Given the description of an element on the screen output the (x, y) to click on. 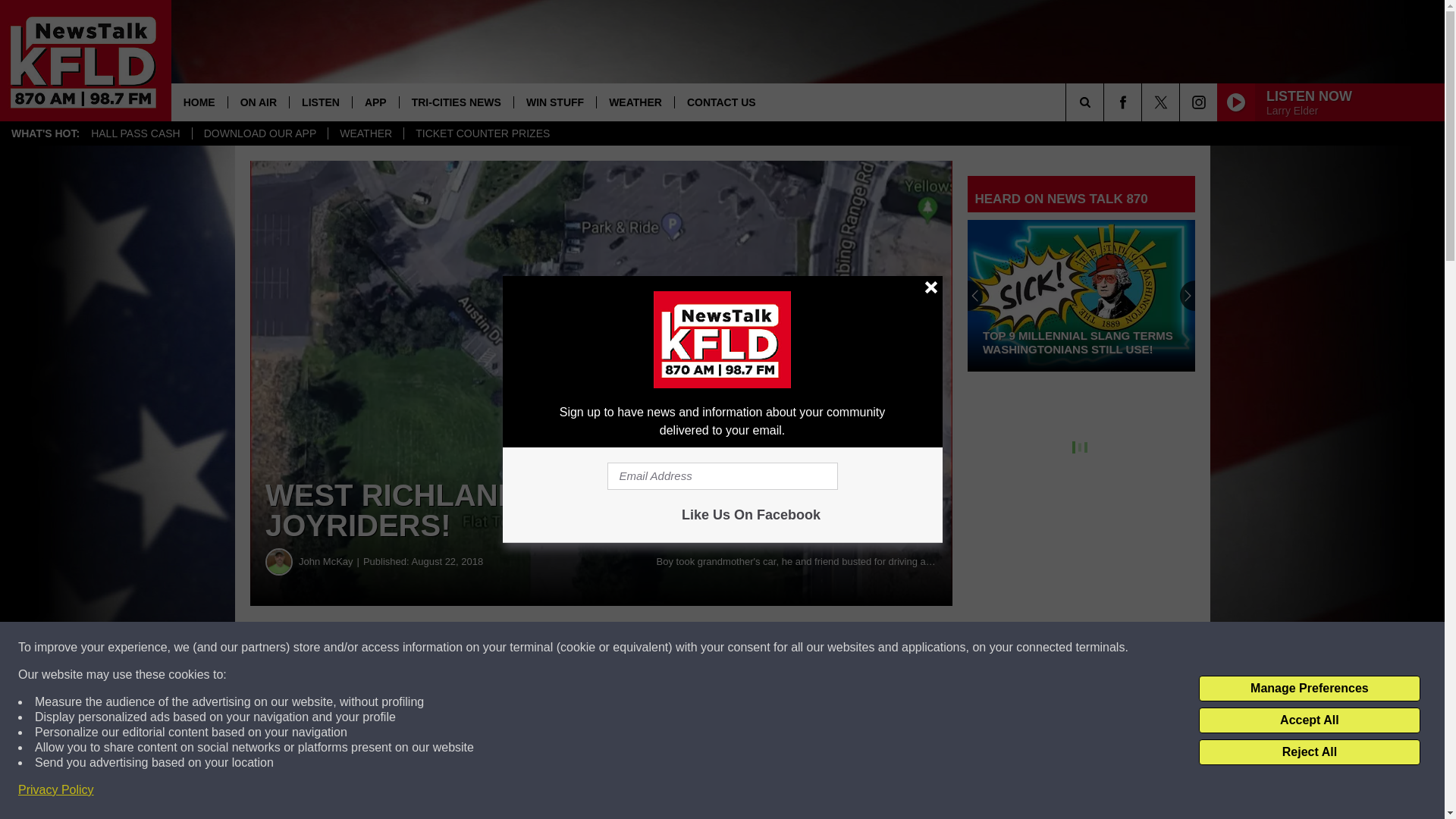
TRI-CITIES NEWS (455, 102)
HALL PASS CASH (136, 133)
Share on Facebook (460, 647)
SEARCH (1106, 102)
HOME (199, 102)
WIN STUFF (554, 102)
LISTEN (320, 102)
ON AIR (257, 102)
Manage Preferences (1309, 688)
Email Address (722, 475)
Accept All (1309, 720)
WEATHER (365, 133)
WEATHER (634, 102)
Reject All (1309, 751)
SEARCH (1106, 102)
